Given the description of an element on the screen output the (x, y) to click on. 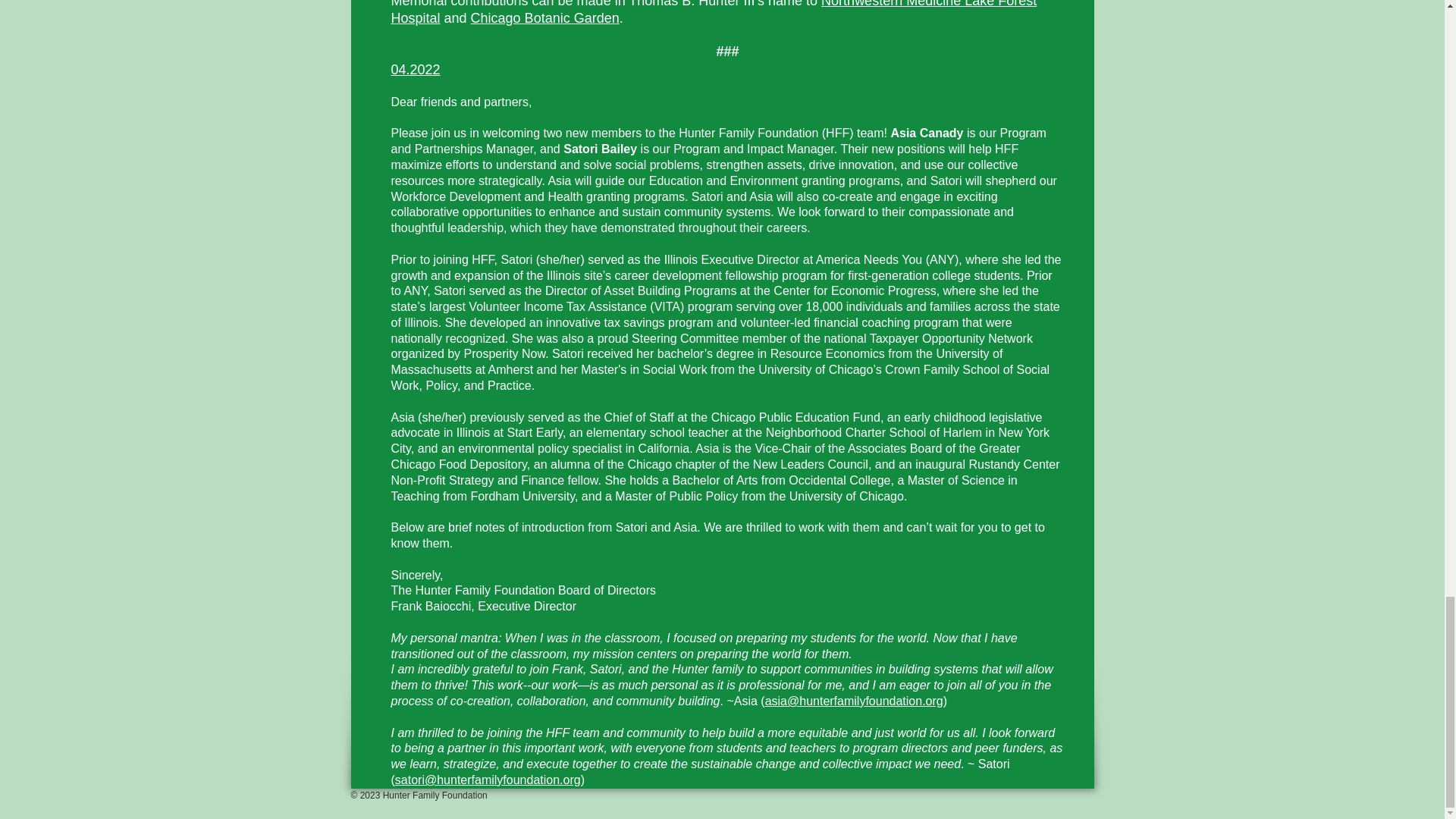
Chicago Botanic Garden (545, 17)
Northwestern Medicine Lake Forest Hospital (713, 12)
